Given the description of an element on the screen output the (x, y) to click on. 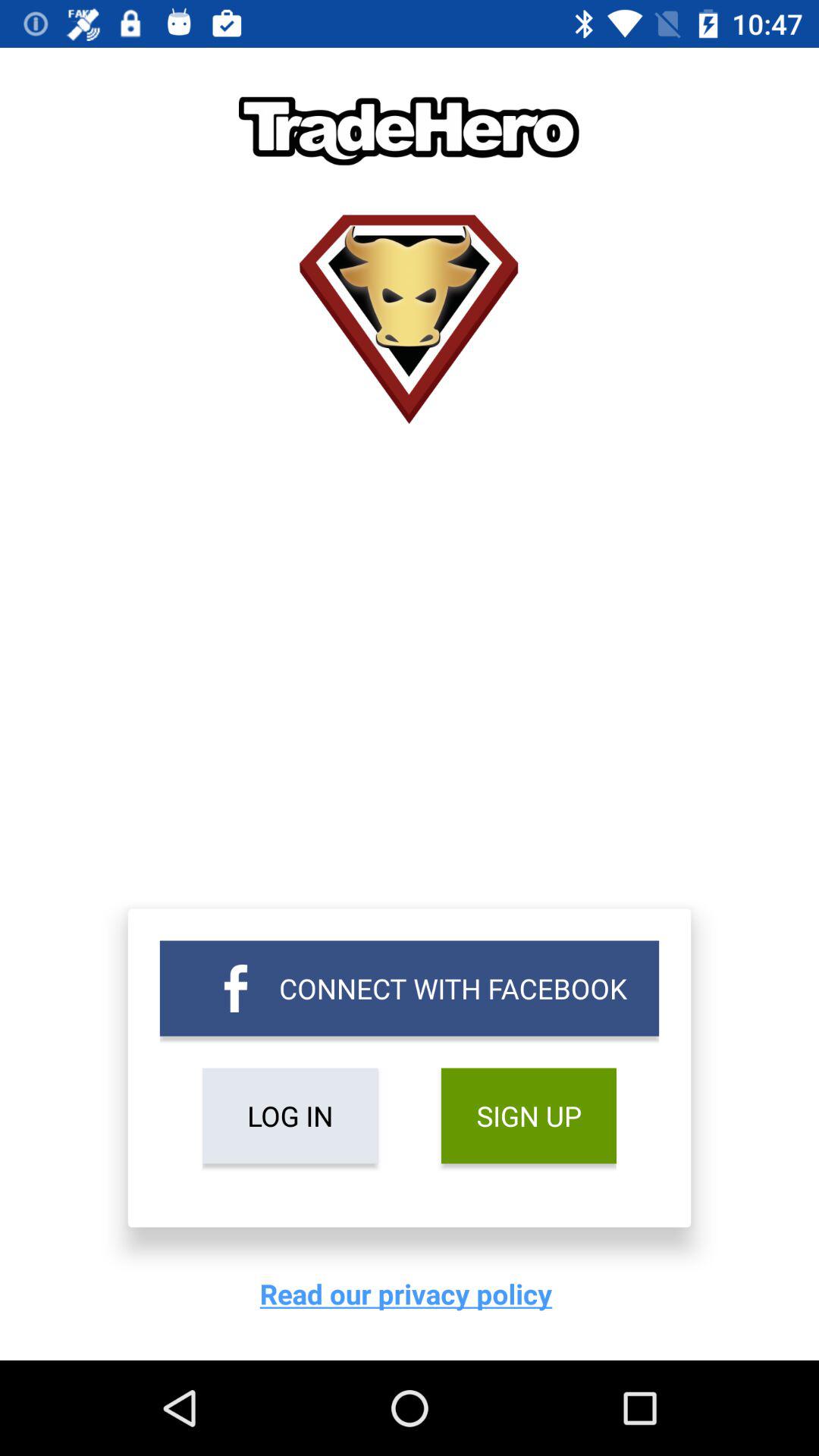
open icon next to log in (528, 1115)
